Given the description of an element on the screen output the (x, y) to click on. 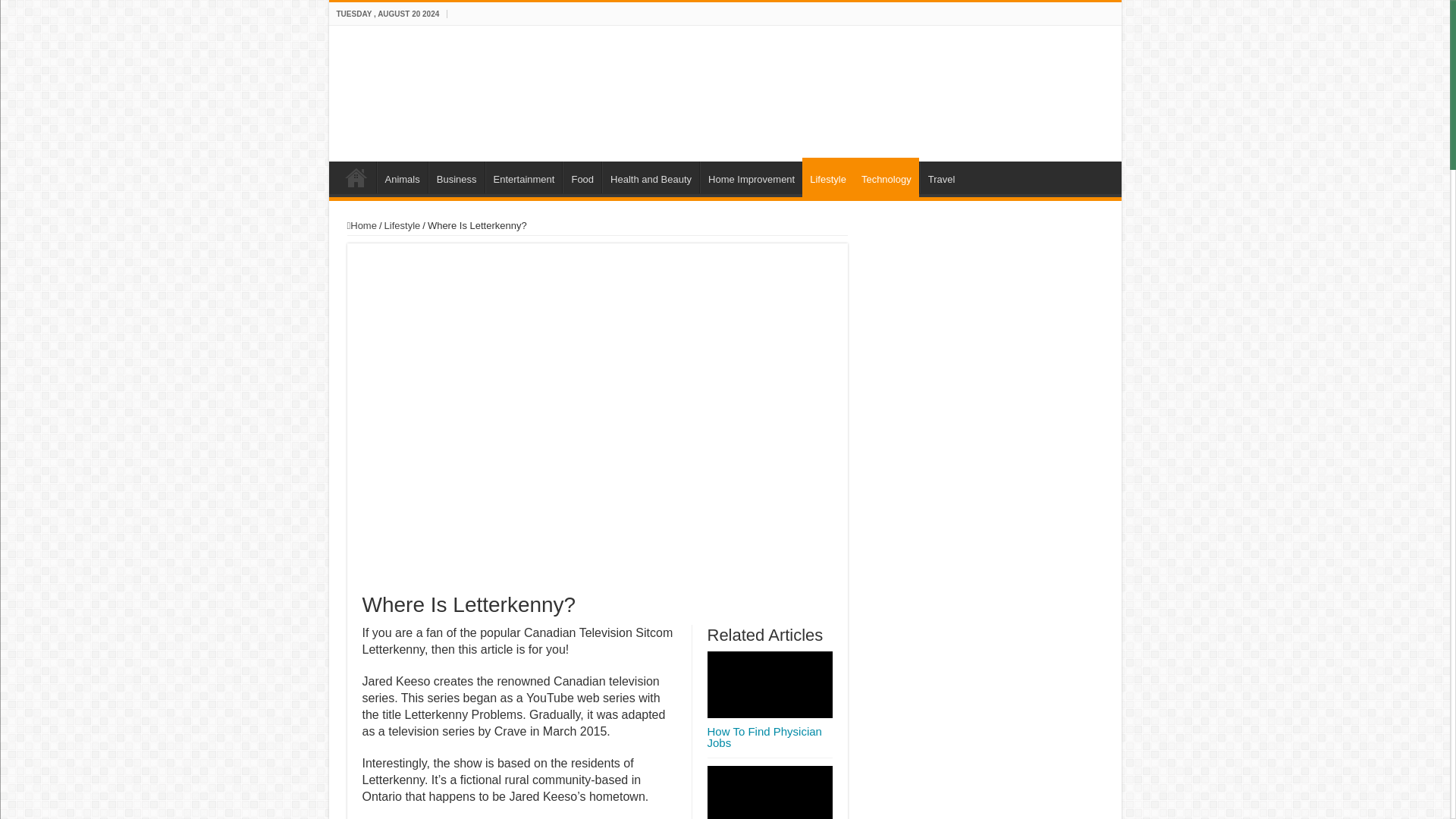
Lifestyle (402, 225)
Home Improvement (751, 177)
Being Human (434, 90)
Travel (941, 177)
Entertainment (523, 177)
Health and Beauty (650, 177)
Technology (885, 177)
Home (355, 177)
Home (362, 225)
Lifestyle (827, 177)
